Given the description of an element on the screen output the (x, y) to click on. 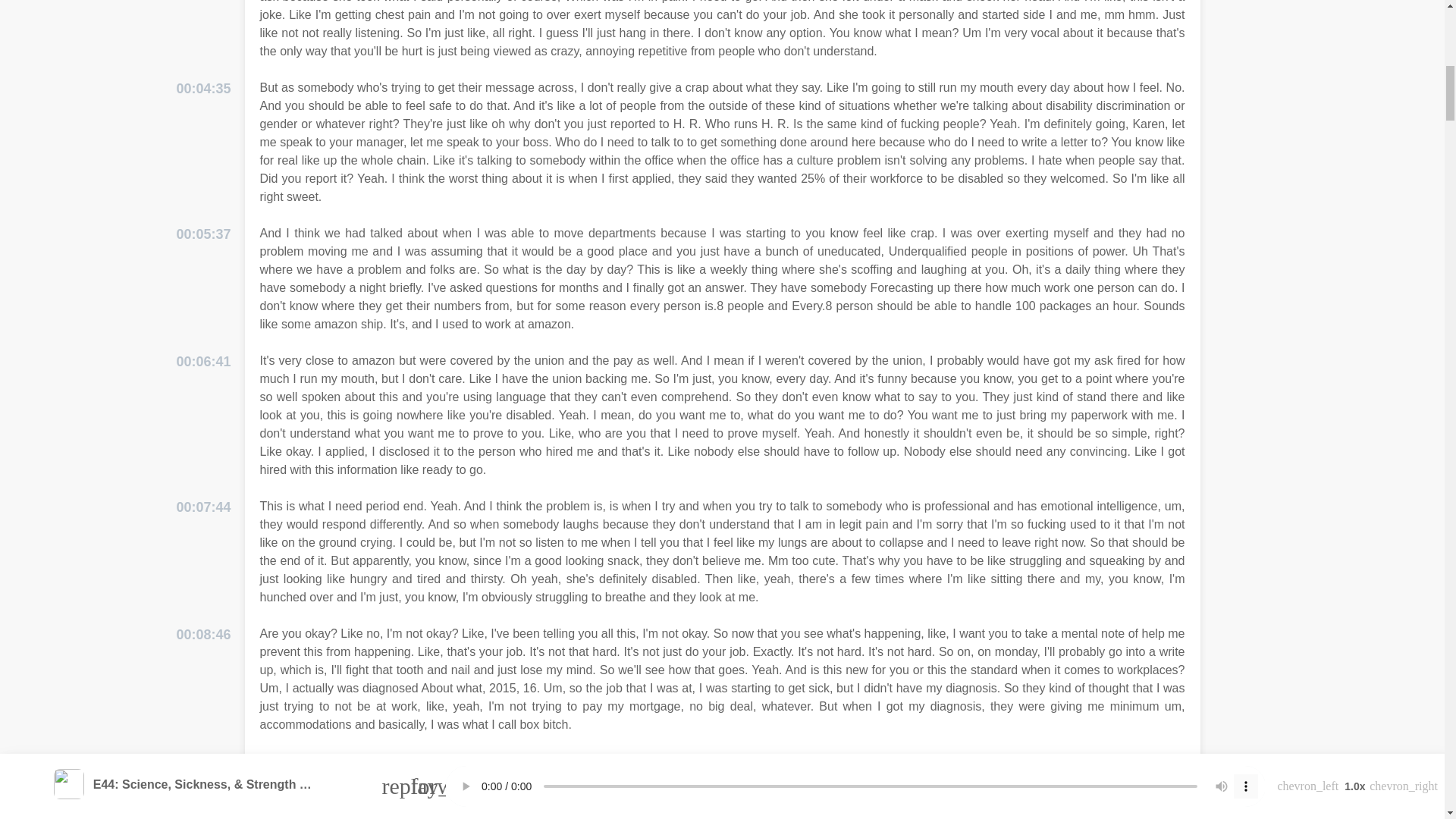
00:06:41 (203, 362)
00:05:37 (203, 234)
00:07:44 (203, 507)
00:08:46 (203, 634)
00:09:52 (203, 762)
00:04:35 (203, 88)
